Given the description of an element on the screen output the (x, y) to click on. 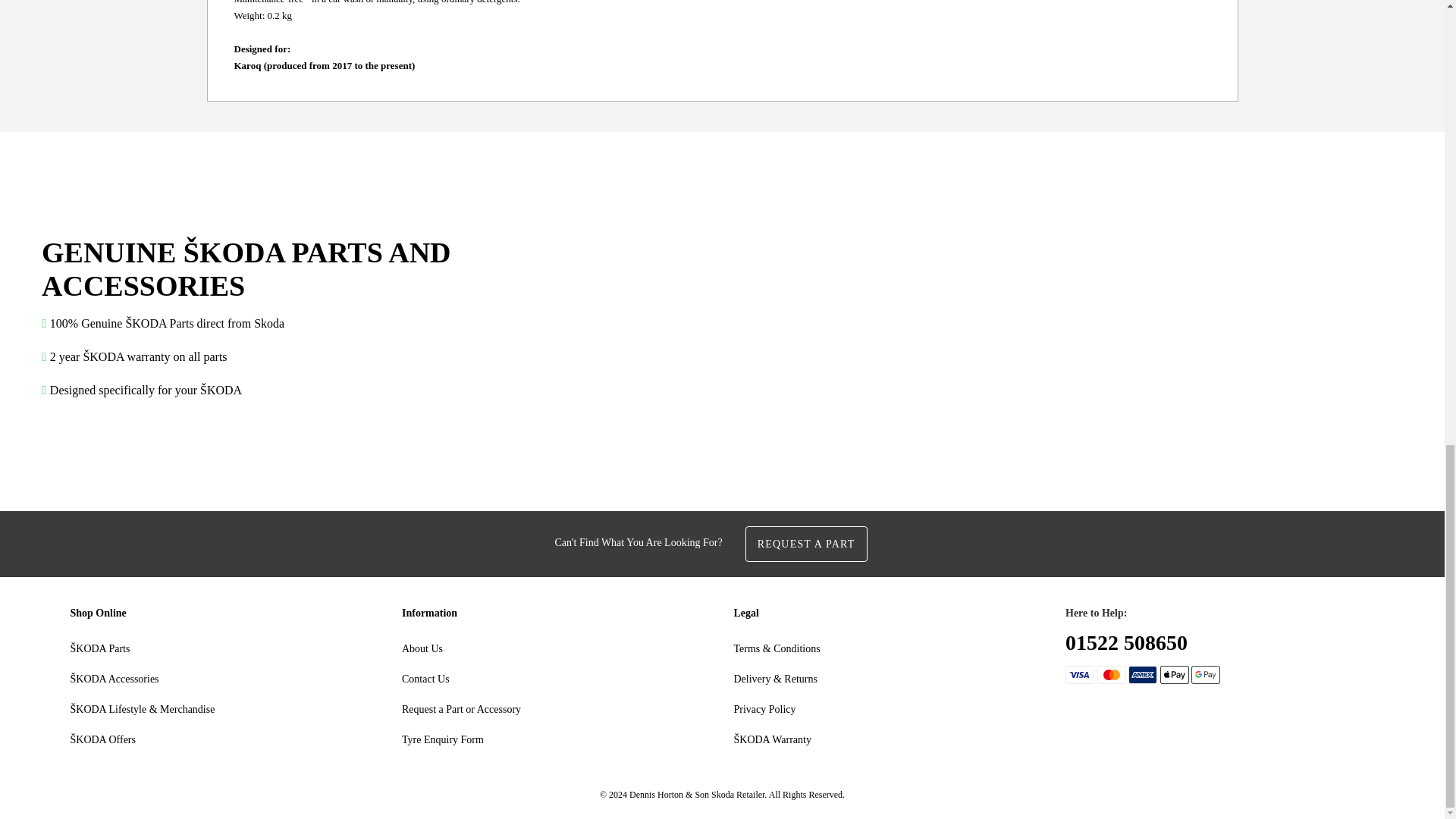
Google Pay (1205, 674)
Mastercard (1110, 674)
American Express (1142, 674)
Visa (1079, 674)
Apple Pay (1174, 674)
